Given the description of an element on the screen output the (x, y) to click on. 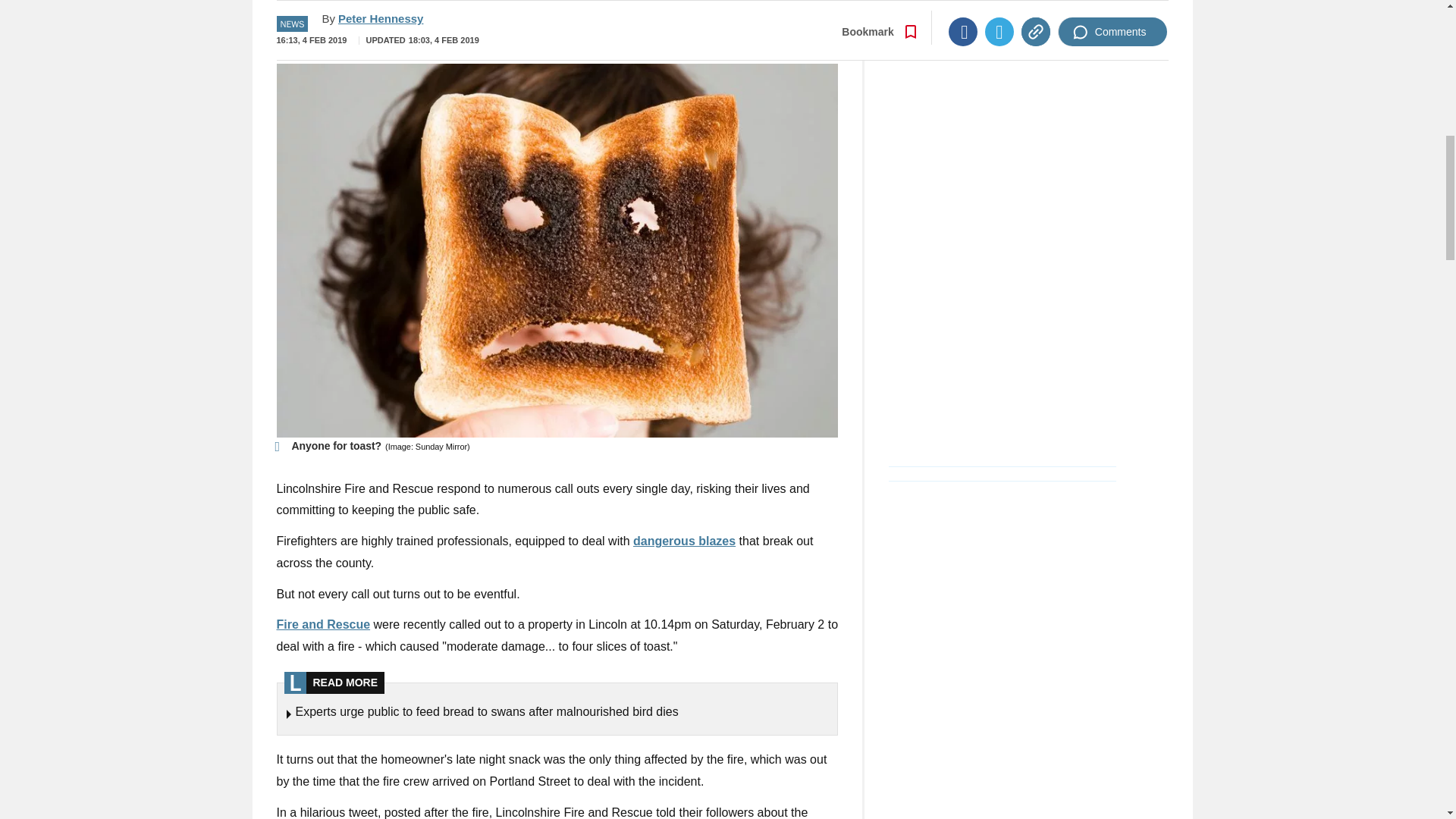
Go (730, 29)
